Given the description of an element on the screen output the (x, y) to click on. 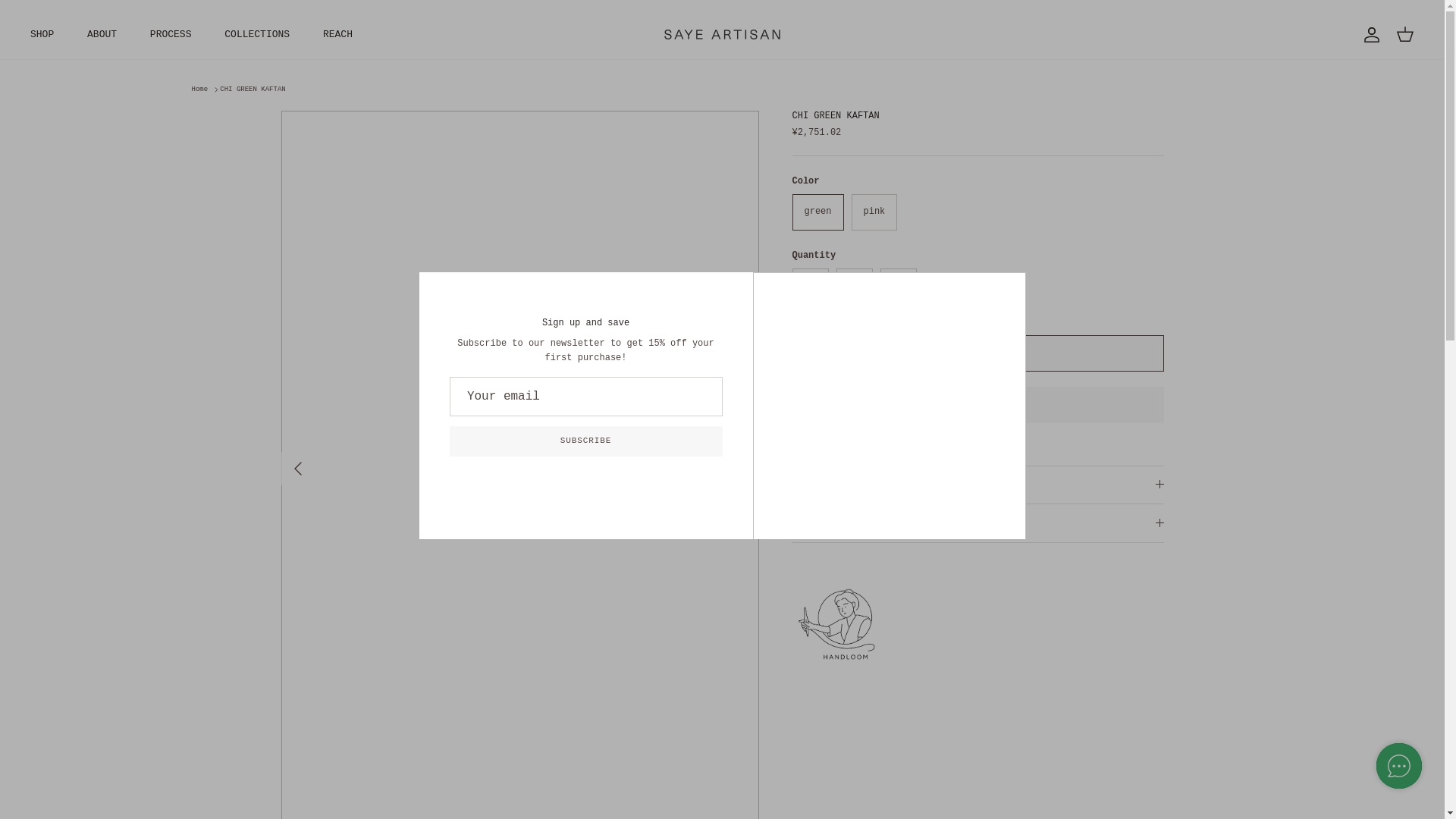
ABOUT (102, 34)
PROCESS (170, 34)
SAYE ARTISAN (721, 34)
COLLECTIONS (256, 34)
LEFT (296, 468)
Plus (897, 285)
Minus (809, 285)
Cart (1404, 35)
REACH (337, 34)
SHOP (41, 34)
Account (1368, 34)
1 (853, 286)
